Given the description of an element on the screen output the (x, y) to click on. 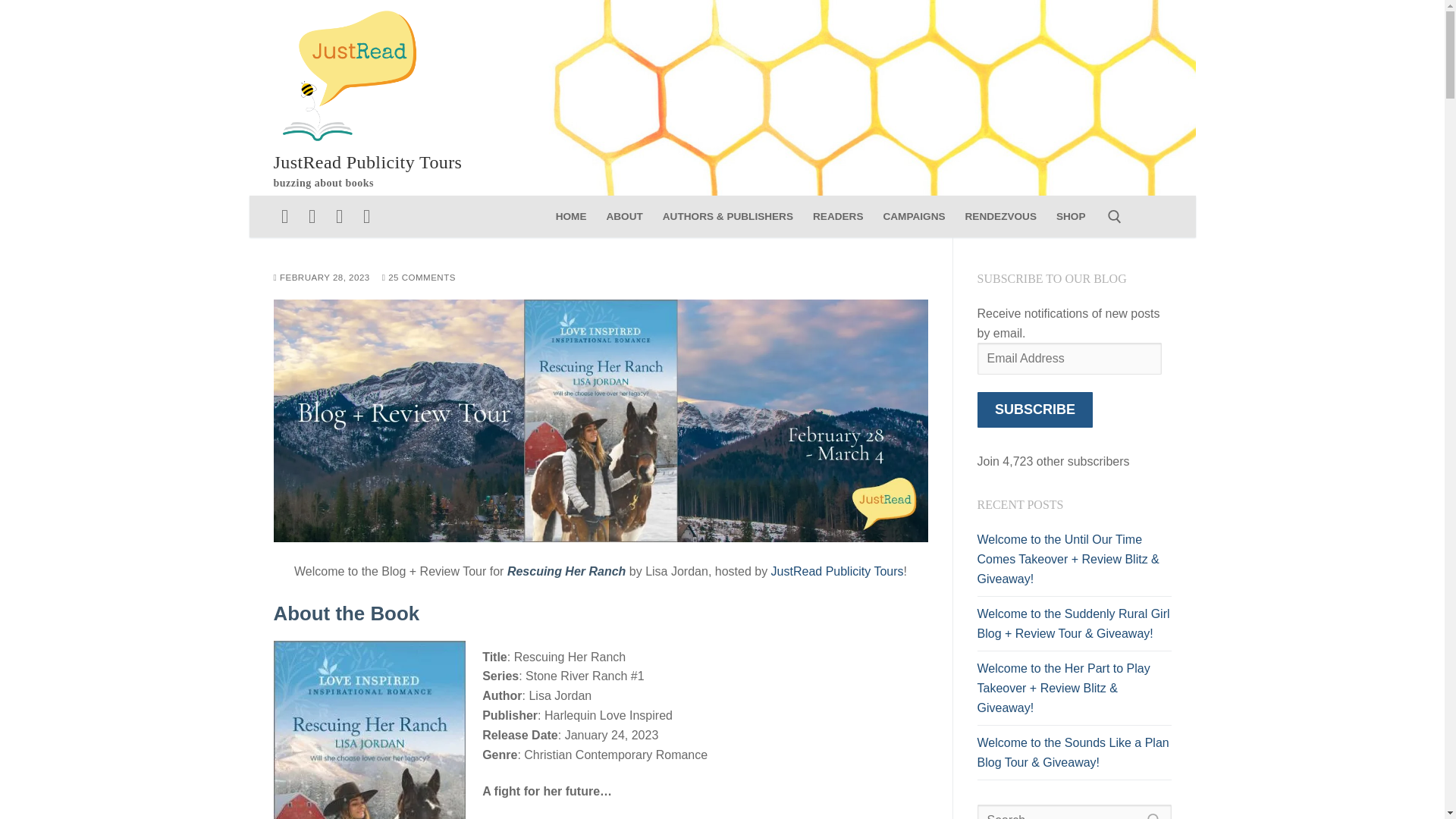
JustRead Publicity Tours (367, 162)
HOME (571, 216)
ABOUT (623, 216)
Search for: (1073, 811)
X (339, 216)
Pinterest (365, 216)
25 COMMENTS (418, 276)
JustRead Publicity Tours (837, 571)
CAMPAIGNS (913, 216)
SHOP (1071, 216)
FEBRUARY 28, 2023 (321, 276)
RENDEZVOUS (1000, 216)
Facebook (284, 216)
Instagram (311, 216)
READERS (837, 216)
